Given the description of an element on the screen output the (x, y) to click on. 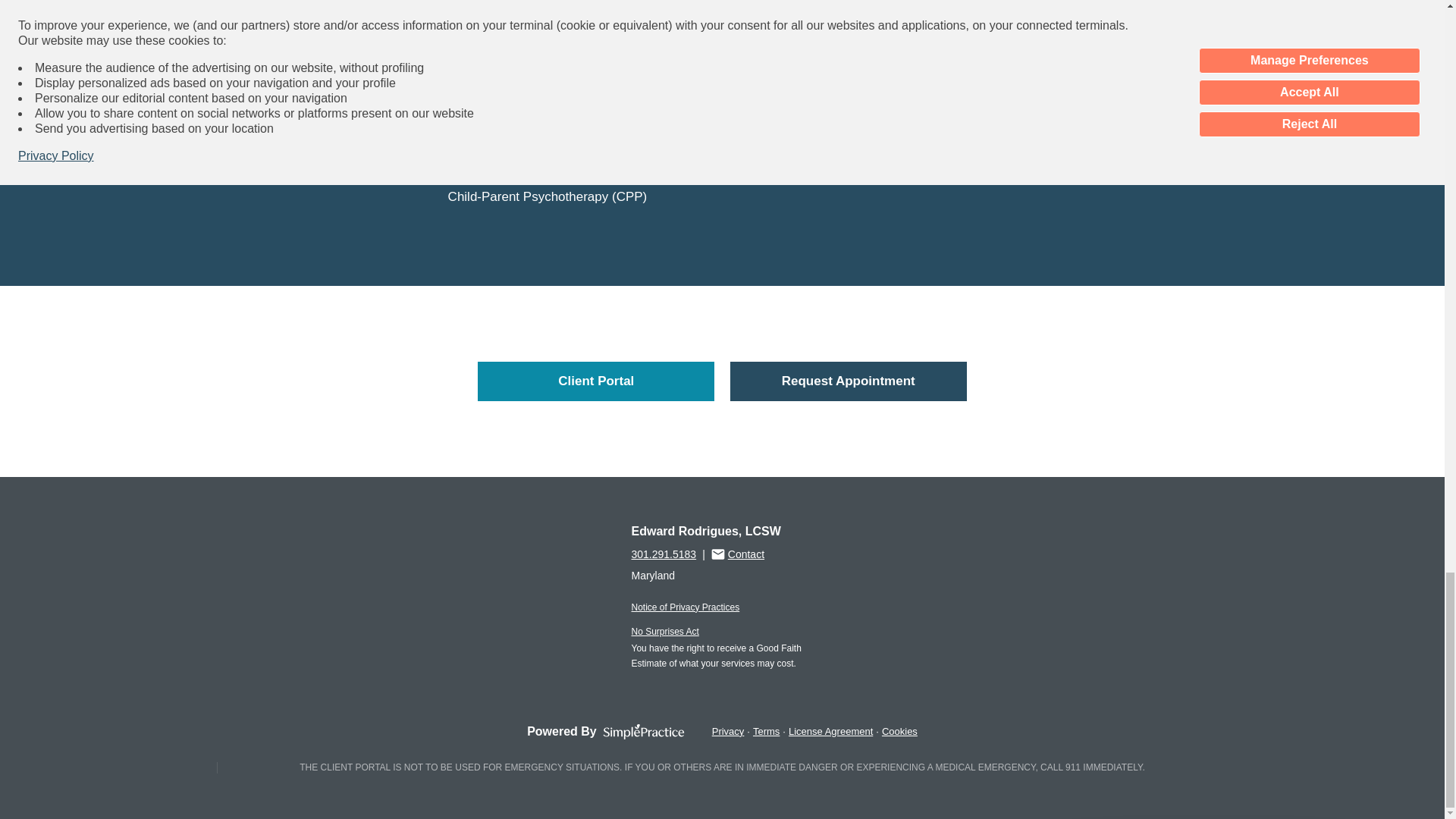
Terms (765, 731)
Cookies (899, 731)
License Agreement (830, 731)
Contact (737, 554)
Client Portal (595, 381)
Request Appointment (848, 381)
Privacy (727, 731)
No Surprises Act (664, 631)
301.291.5183 (662, 553)
Notice of Privacy Practices (684, 606)
